Given the description of an element on the screen output the (x, y) to click on. 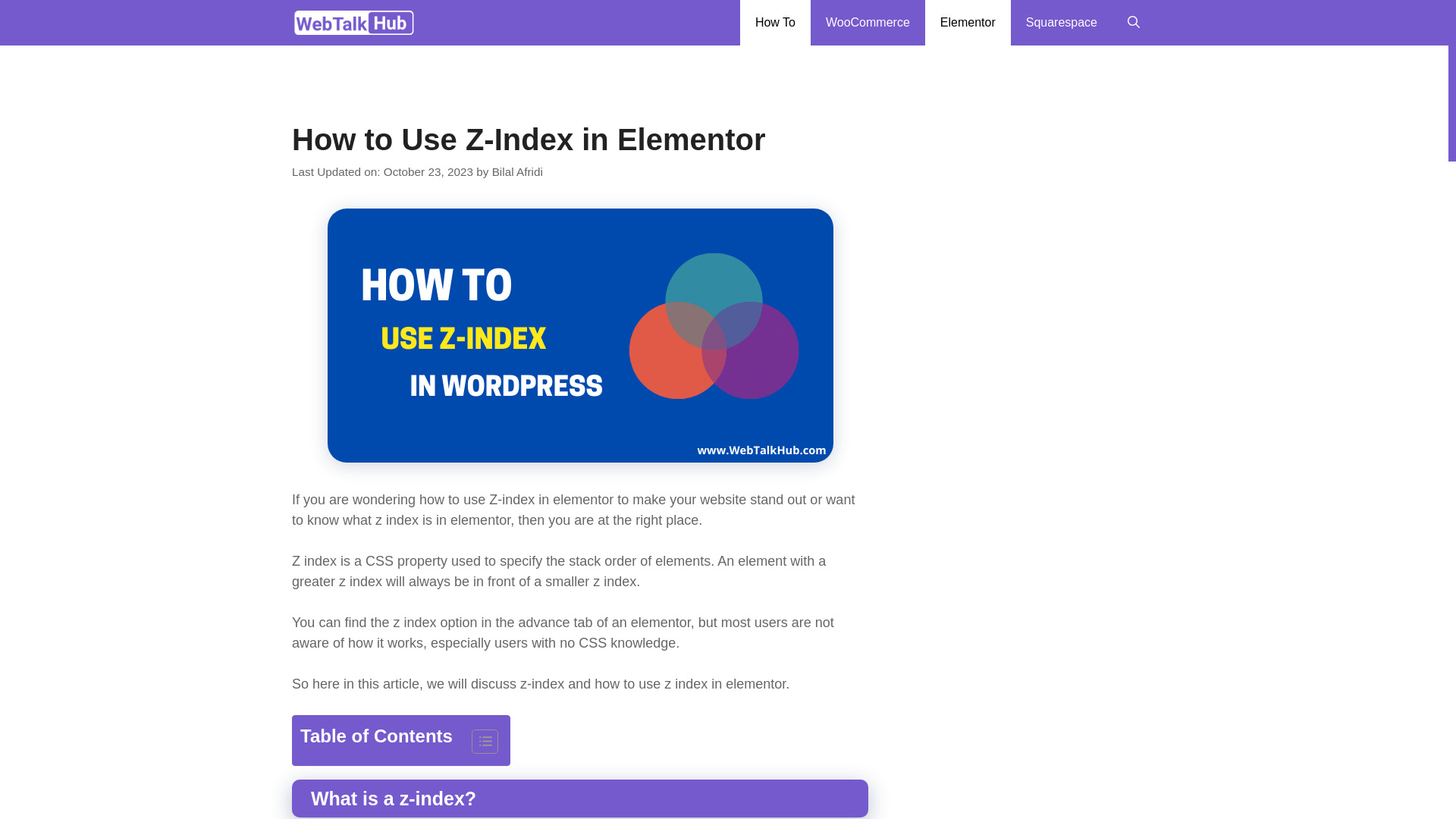
Squarespace (1061, 22)
View all posts by Bilal Afridi (517, 171)
Bilal Afridi (517, 171)
Elementor (967, 22)
WooCommerce (867, 22)
How To (774, 22)
